Given the description of an element on the screen output the (x, y) to click on. 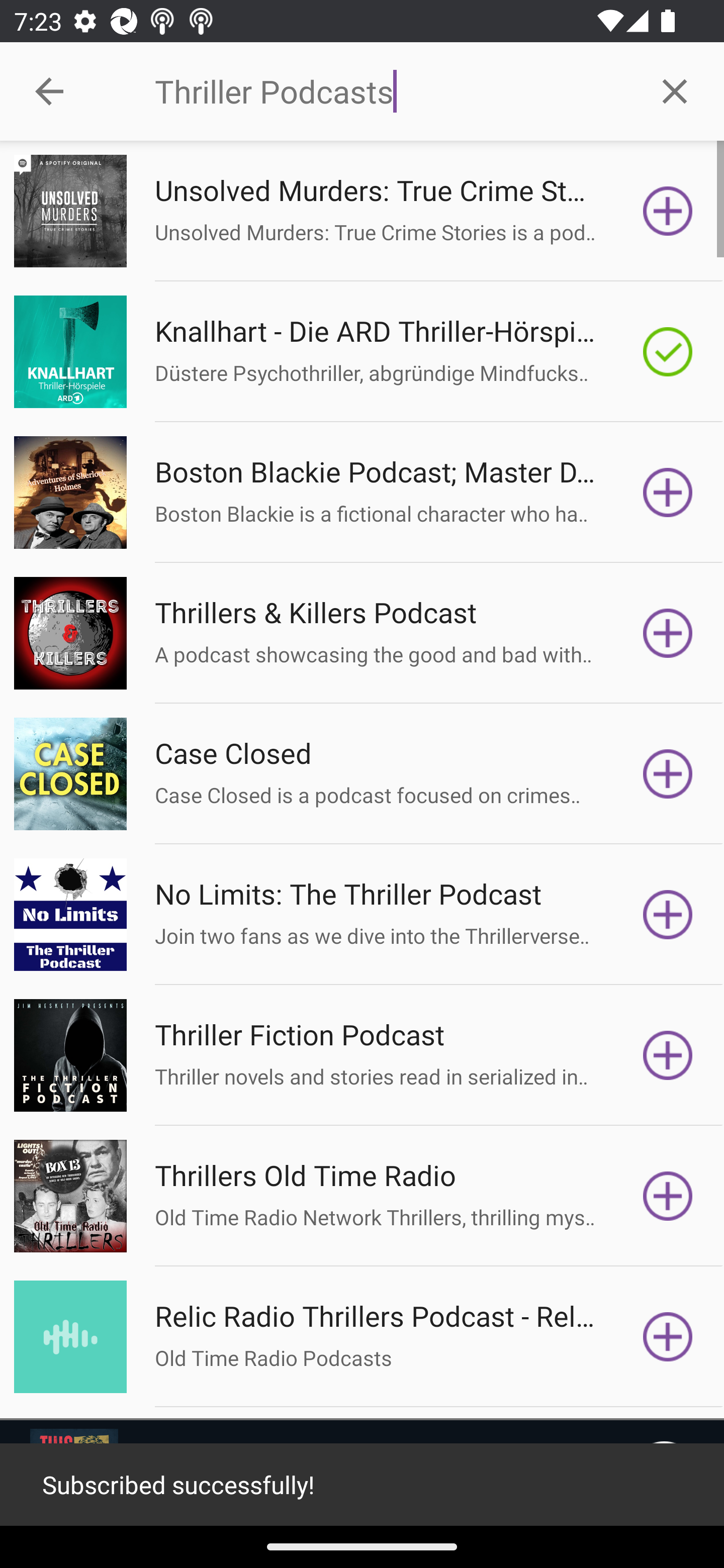
Collapse (49, 91)
Clear query (674, 90)
Thriller Podcasts (389, 91)
Subscribe (667, 211)
Subscribed (667, 350)
Subscribe (667, 491)
Subscribe (667, 633)
Subscribe (667, 773)
Subscribe (667, 913)
Subscribe (667, 1054)
Subscribe (667, 1195)
Subscribe (667, 1336)
Subscribed successfully! (362, 1484)
